Given the description of an element on the screen output the (x, y) to click on. 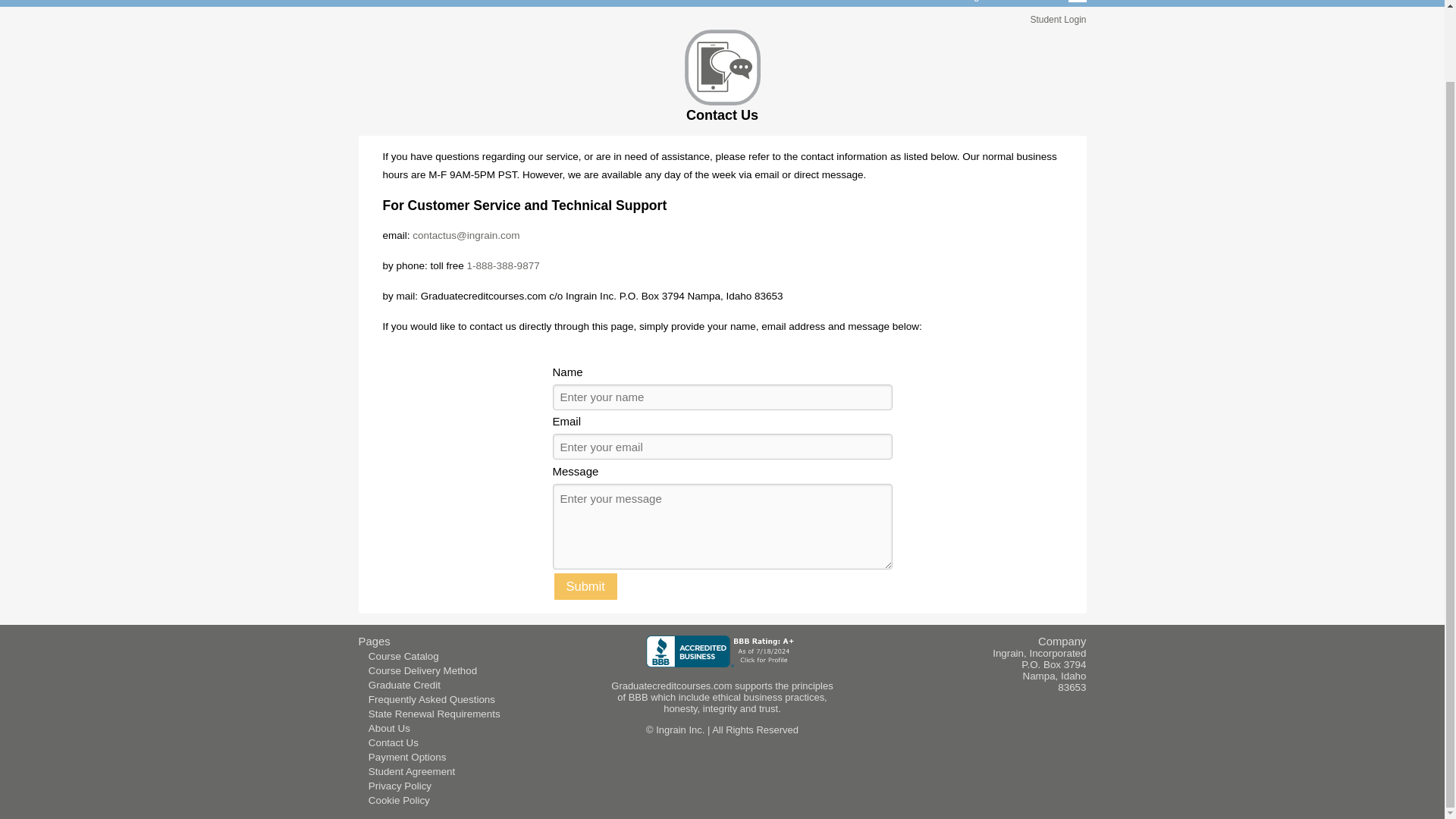
Course Catalog (944, 3)
Graduate Credit (848, 3)
State Renewal Requirements (434, 713)
Submit (584, 586)
Course Catalog (403, 655)
About Us (389, 727)
Contact Us (393, 742)
Frequently Asked Questions (431, 699)
Course Delivery Method (422, 670)
Graduate Credit (404, 685)
Payment Options (406, 756)
Cookie Policy (398, 799)
1-888-388-9877 (503, 265)
Student Agreement (411, 771)
Contact Us (1028, 3)
